Given the description of an element on the screen output the (x, y) to click on. 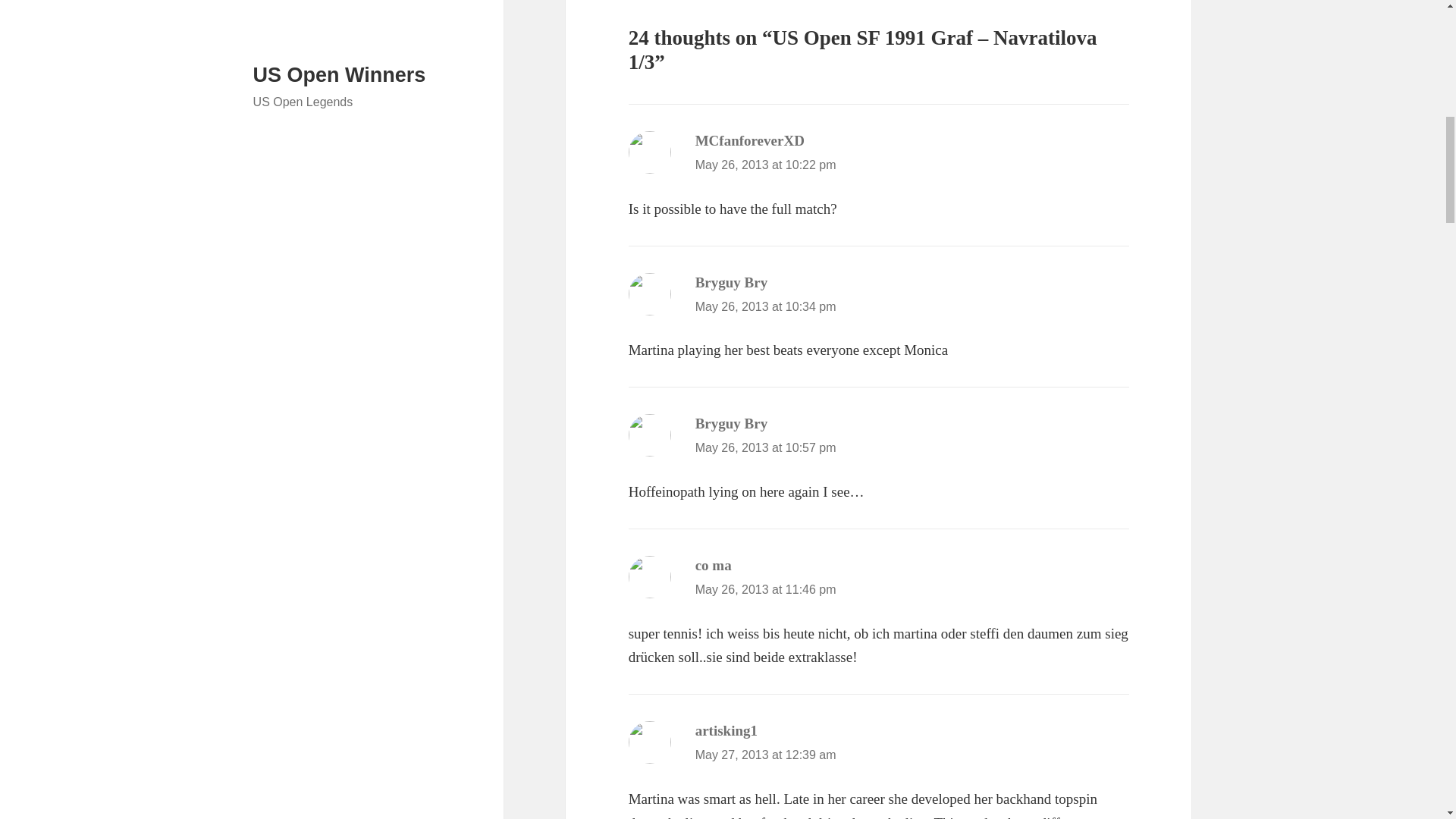
May 26, 2013 at 10:22 pm (765, 164)
May 26, 2013 at 10:57 pm (765, 447)
May 27, 2013 at 12:39 am (765, 754)
May 26, 2013 at 10:34 pm (765, 306)
May 26, 2013 at 11:46 pm (765, 589)
